Given the description of an element on the screen output the (x, y) to click on. 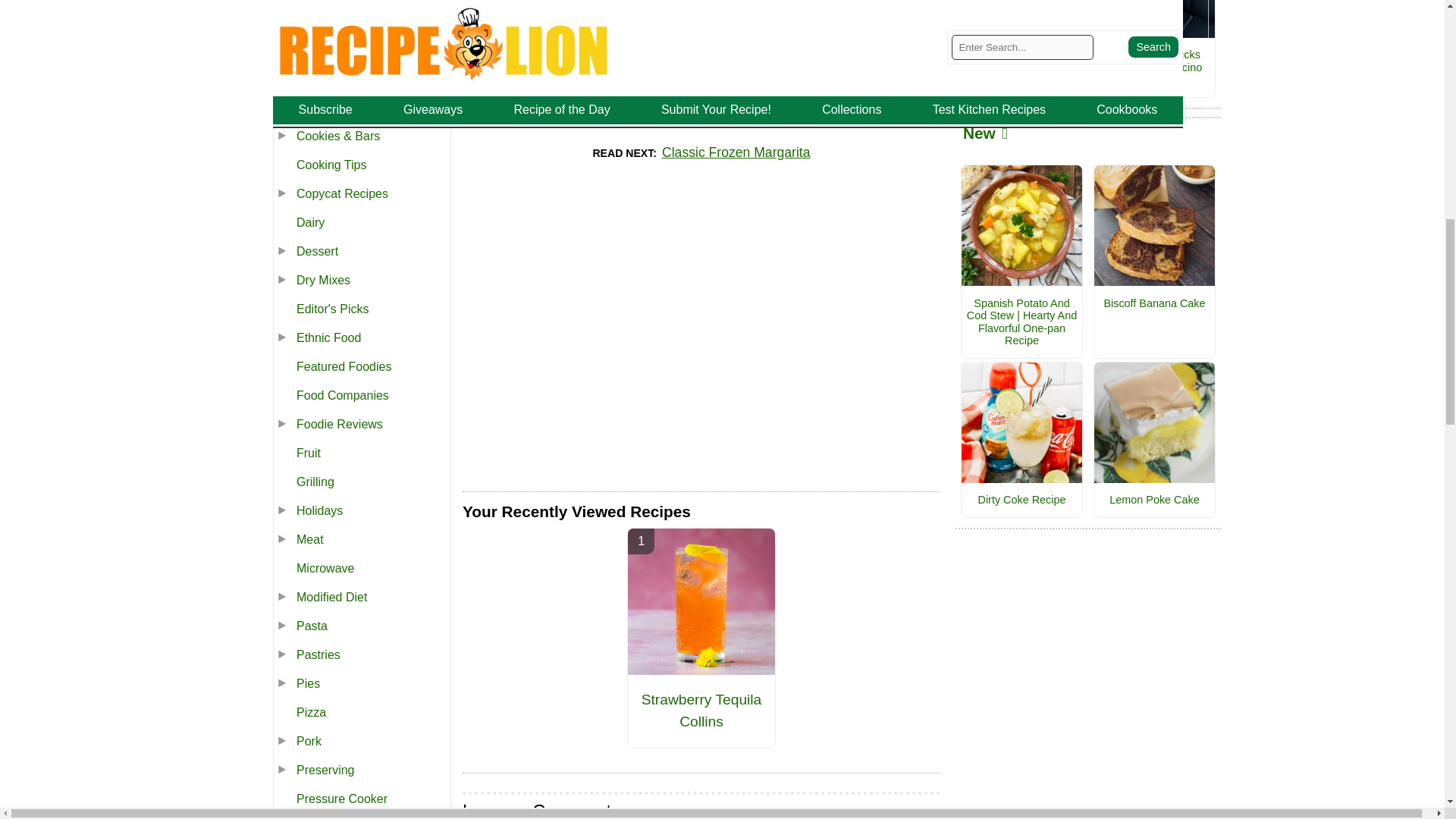
Insticator Content Engagement Unit (701, 328)
Email (761, 6)
Add (880, 6)
Facebook (641, 6)
